Given the description of an element on the screen output the (x, y) to click on. 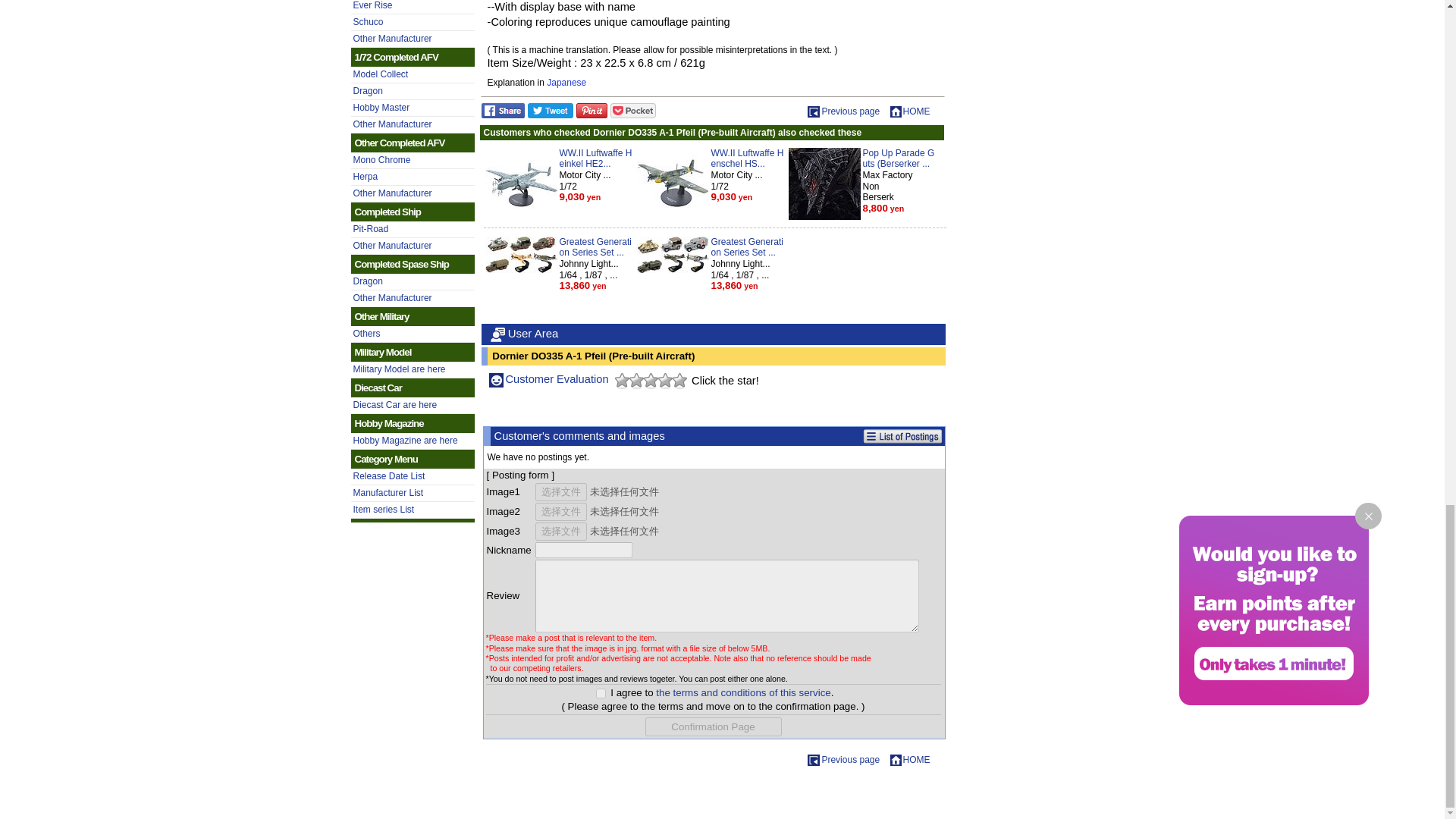
Confirmation Page (712, 726)
on (600, 693)
